Given the description of an element on the screen output the (x, y) to click on. 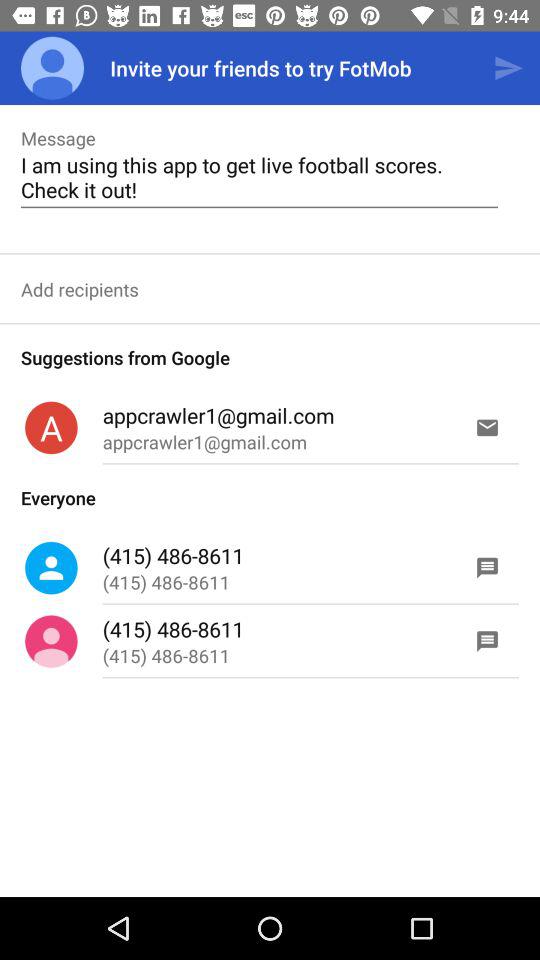
open item below message (259, 177)
